Given the description of an element on the screen output the (x, y) to click on. 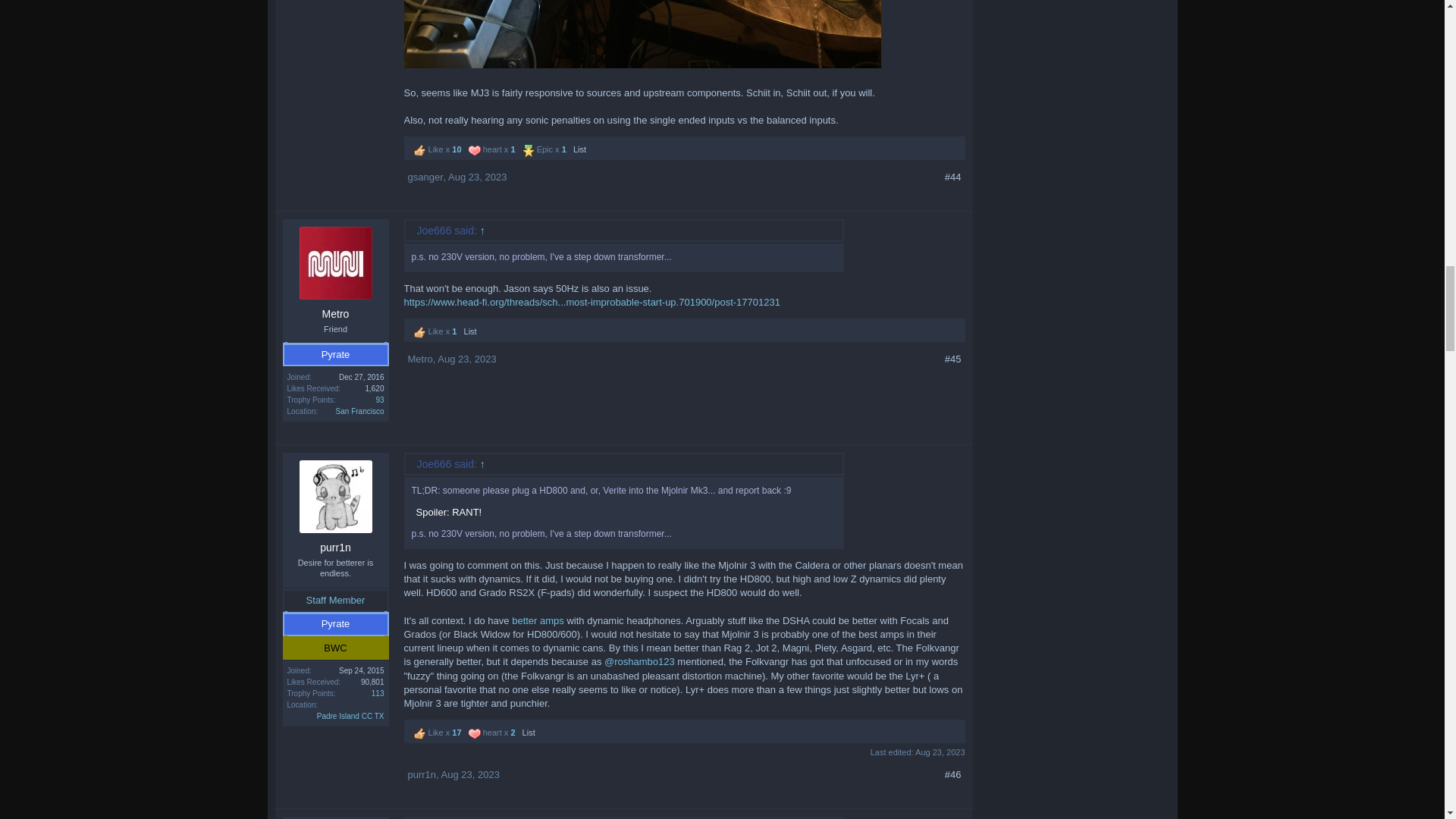
Like (419, 150)
